Given the description of an element on the screen output the (x, y) to click on. 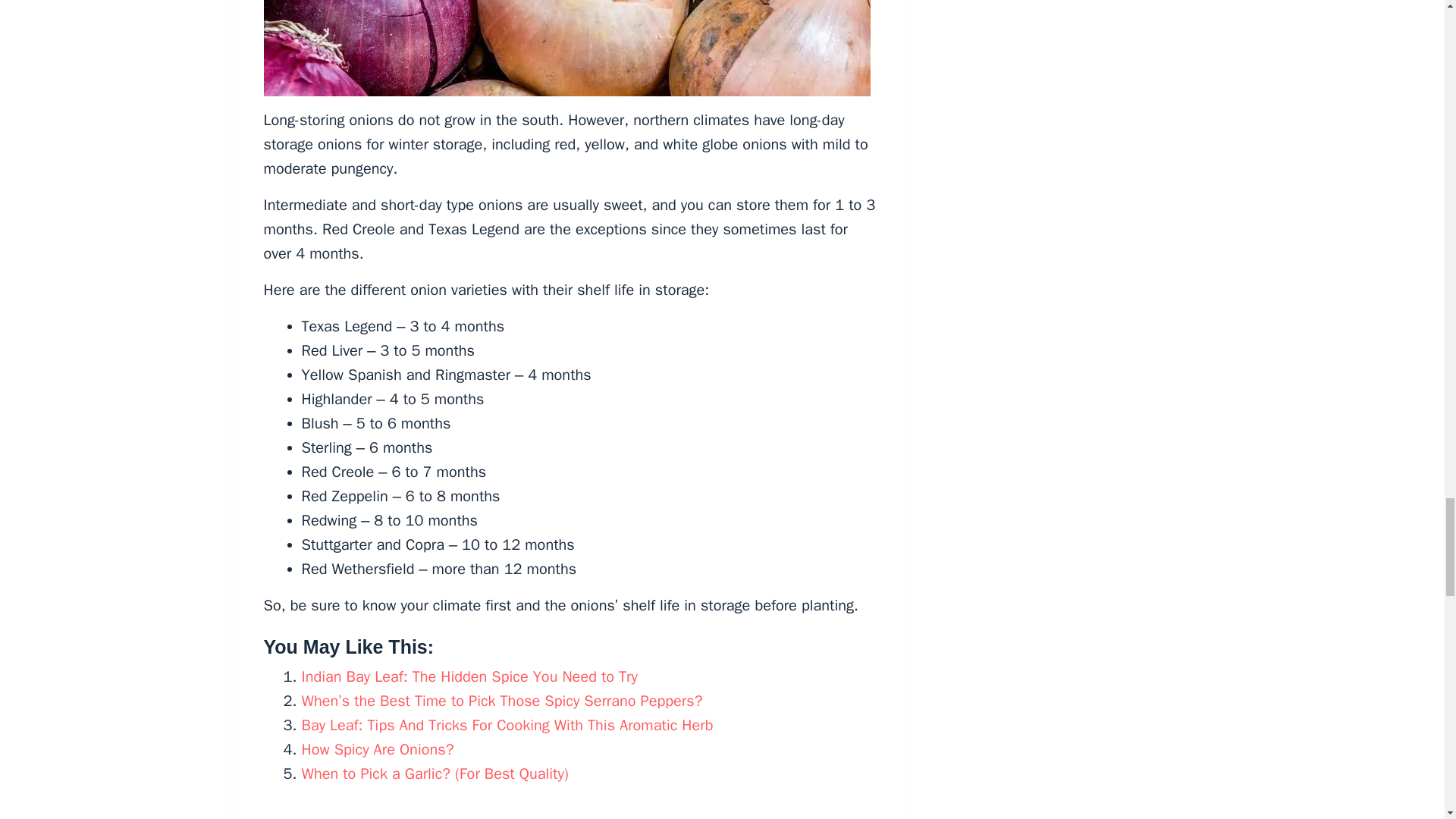
Indian Bay Leaf: The Hidden Spice You Need to Try (469, 676)
Store Onions (566, 48)
How Spicy Are Onions? (377, 749)
How Spicy Are Onions? (377, 749)
Indian Bay Leaf: The Hidden Spice You Need to Try (469, 676)
